Given the description of an element on the screen output the (x, y) to click on. 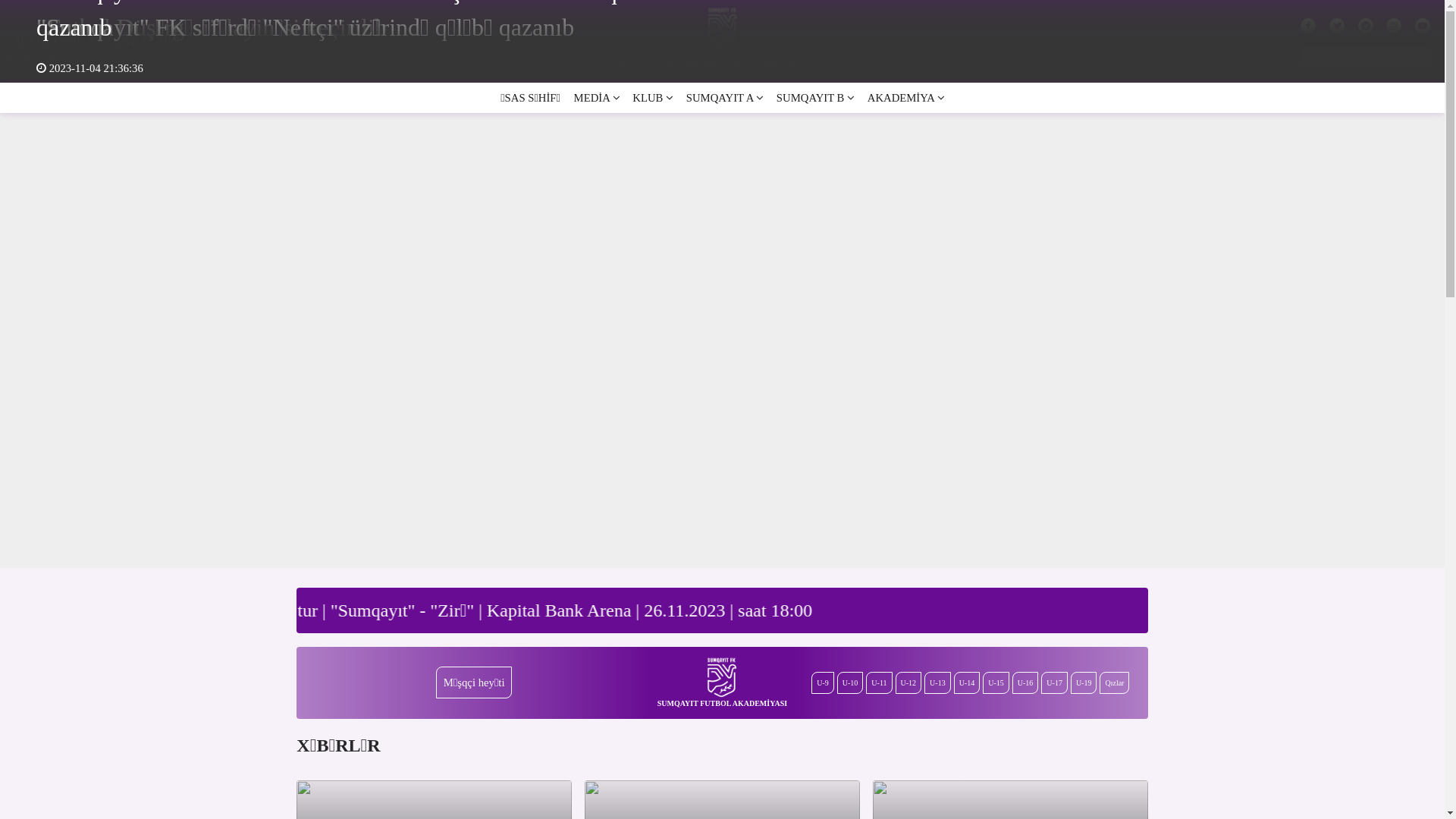
"SUMQAYIT" FUTBOL KLUBU Element type: text (95, 40)
U-11 Element type: text (878, 682)
SUMQAYIT B Element type: text (814, 97)
U-14 Element type: text (966, 682)
U-12 Element type: text (908, 682)
U-16 Element type: text (1025, 682)
U-17 Element type: text (1054, 682)
U-15 Element type: text (995, 682)
SUMQAYIT A Element type: text (724, 97)
KLUB Element type: text (652, 97)
U-13 Element type: text (937, 682)
U-19 Element type: text (1083, 682)
U-9 Element type: text (822, 682)
U-10 Element type: text (850, 682)
